Given the description of an element on the screen output the (x, y) to click on. 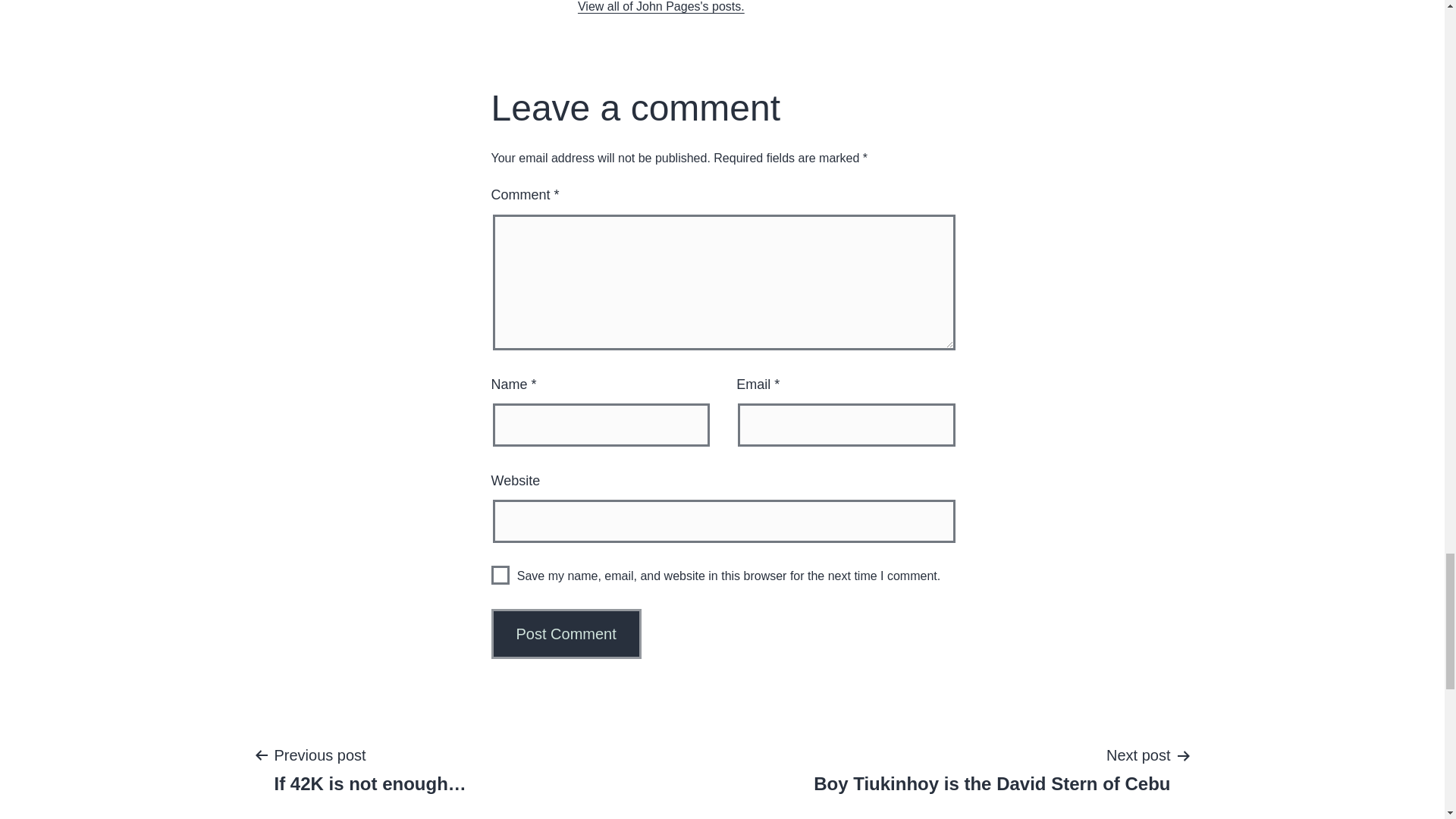
View all of John Pages's posts. (992, 768)
yes (661, 6)
Post Comment (500, 574)
Post Comment (567, 634)
